Given the description of an element on the screen output the (x, y) to click on. 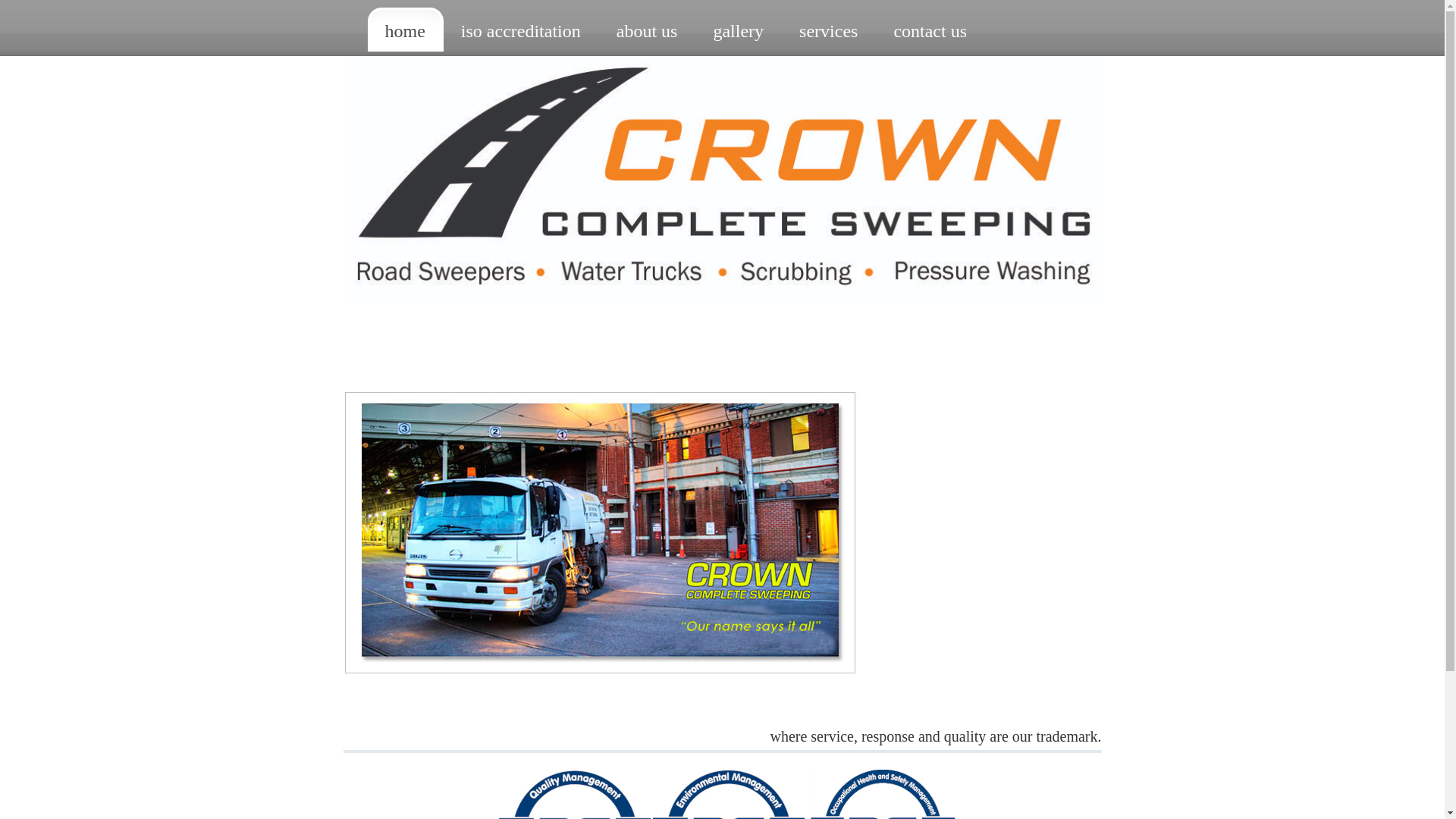
services Element type: text (828, 29)
Crown Complete Sweeping Element type: hover (721, 299)
gallery Element type: text (738, 29)
home Element type: text (404, 29)
contact us Element type: text (930, 29)
iso accreditation Element type: text (521, 29)
about us Element type: text (647, 29)
